Given the description of an element on the screen output the (x, y) to click on. 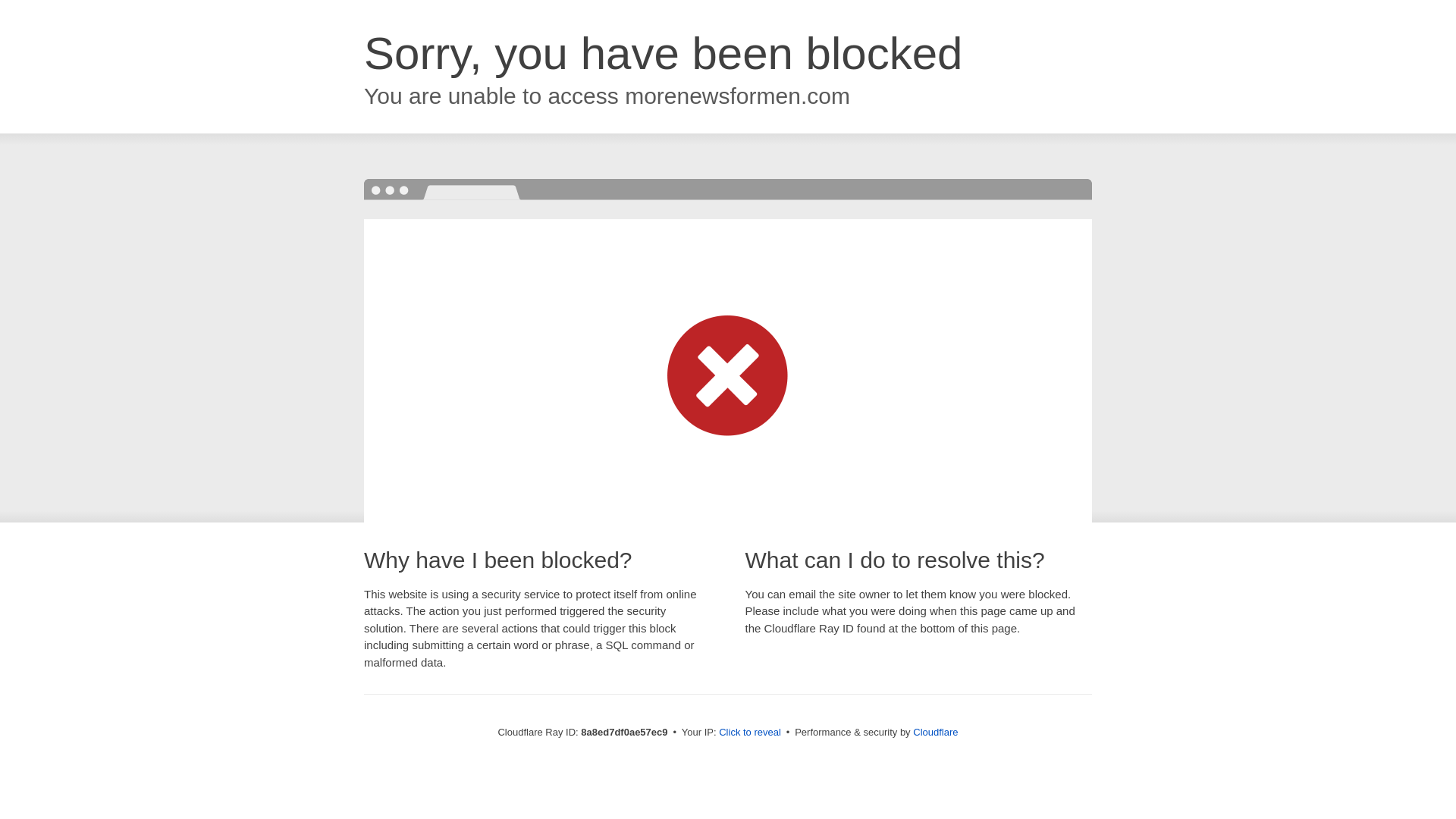
Cloudflare (935, 731)
Click to reveal (749, 732)
